Given the description of an element on the screen output the (x, y) to click on. 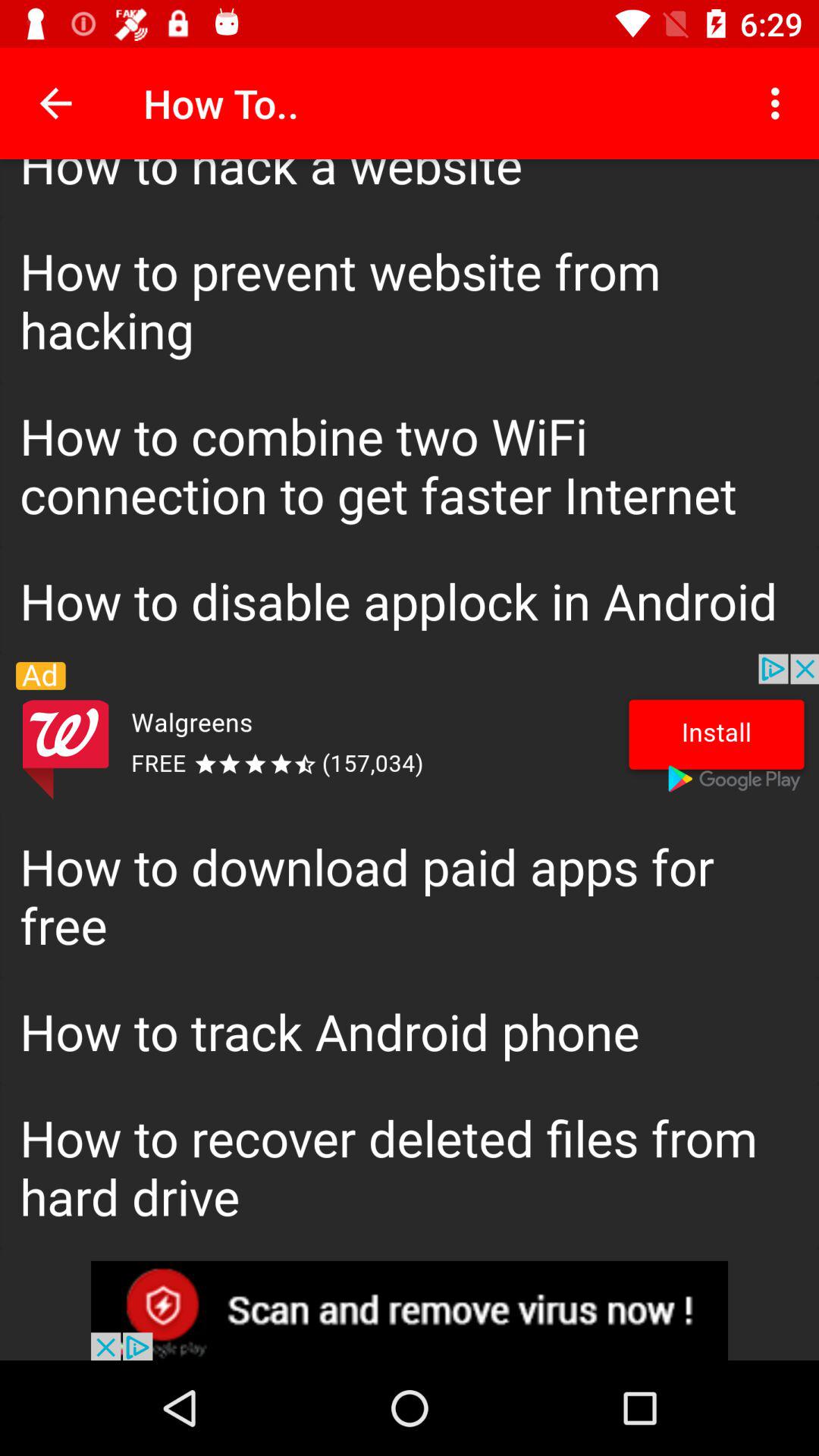
scan and remove virus the article (409, 1310)
